Given the description of an element on the screen output the (x, y) to click on. 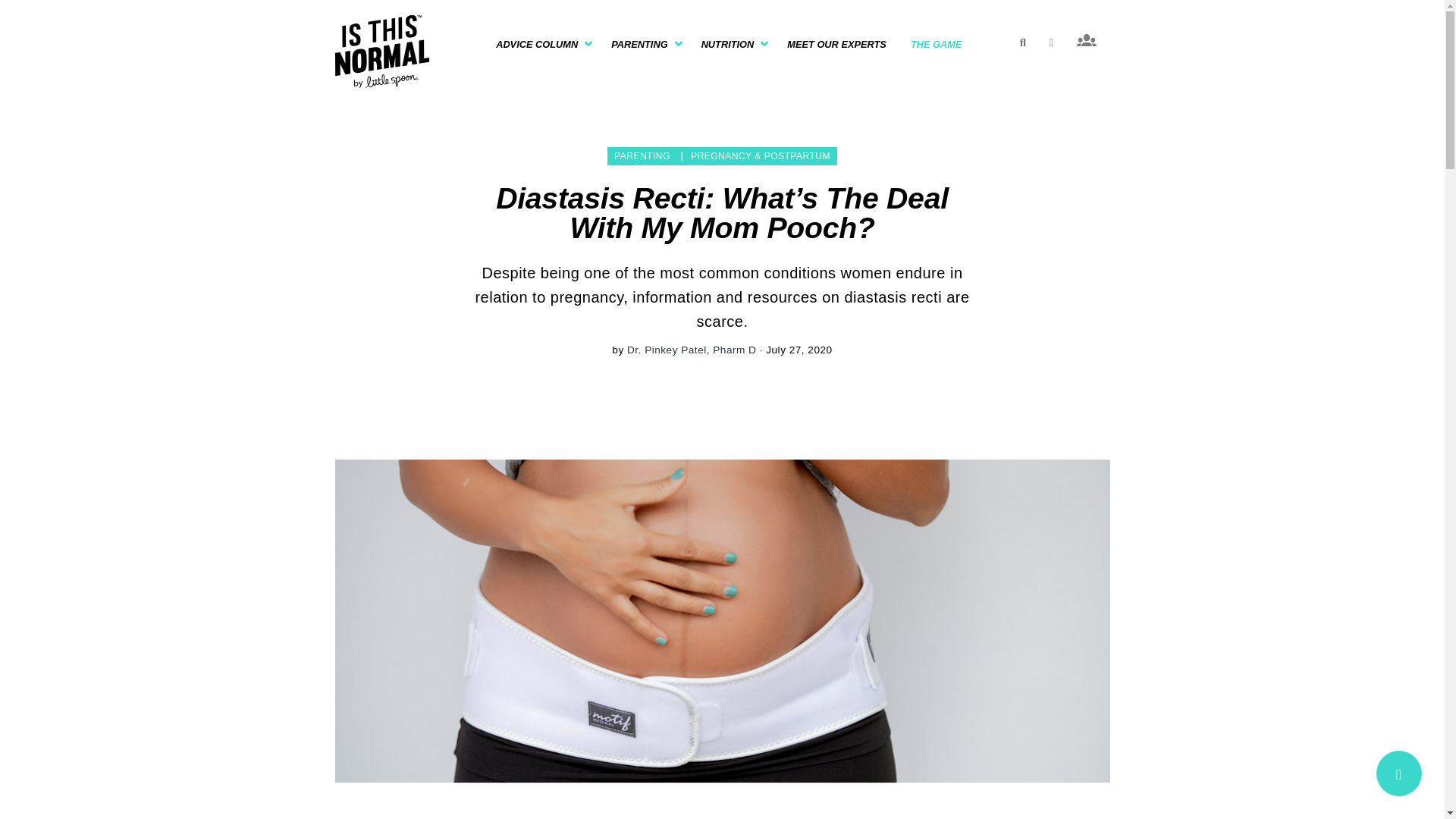
MEET OUR EXPERTS (836, 44)
NUTRITION (732, 44)
PARENTING (643, 44)
ADVICE COLUMN (540, 44)
THE GAME (936, 44)
